Given the description of an element on the screen output the (x, y) to click on. 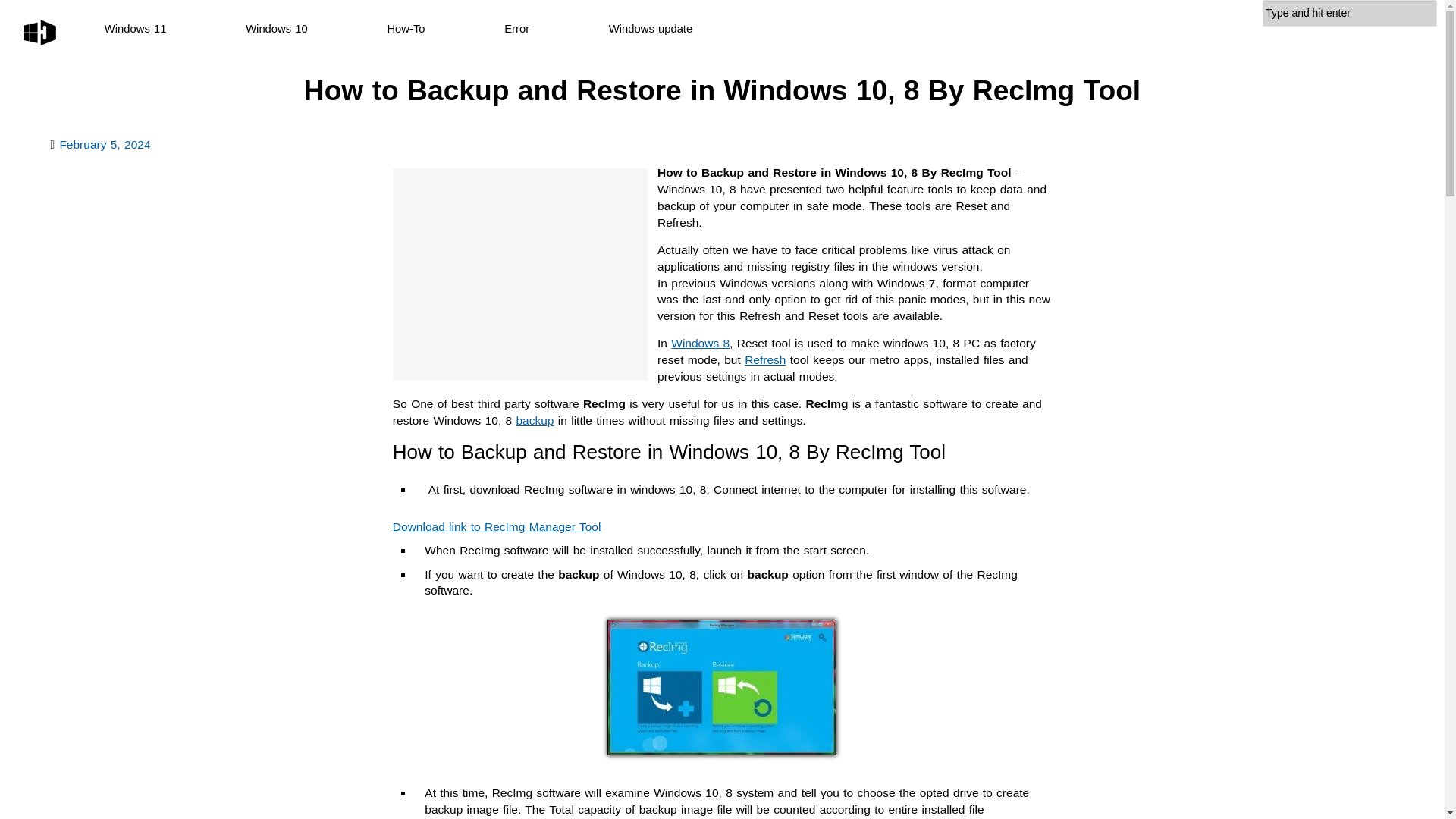
February 5, 2024 (104, 144)
Windows 10 (276, 28)
Windows 11 (136, 28)
Advertisement (520, 274)
How to create Shutdown, Restart, Sleep Shortcut in Windows 8 (700, 342)
Windows 8 (700, 342)
Windows update (650, 28)
backup (534, 420)
Type and hit enter (1349, 13)
RecImg tool  (497, 526)
Error (516, 28)
Refresh (765, 359)
1707165289 (104, 144)
Windows 8 File History Backup Details - A Complete Guide (534, 420)
windows 8 recImg manager tool (721, 687)
